Given the description of an element on the screen output the (x, y) to click on. 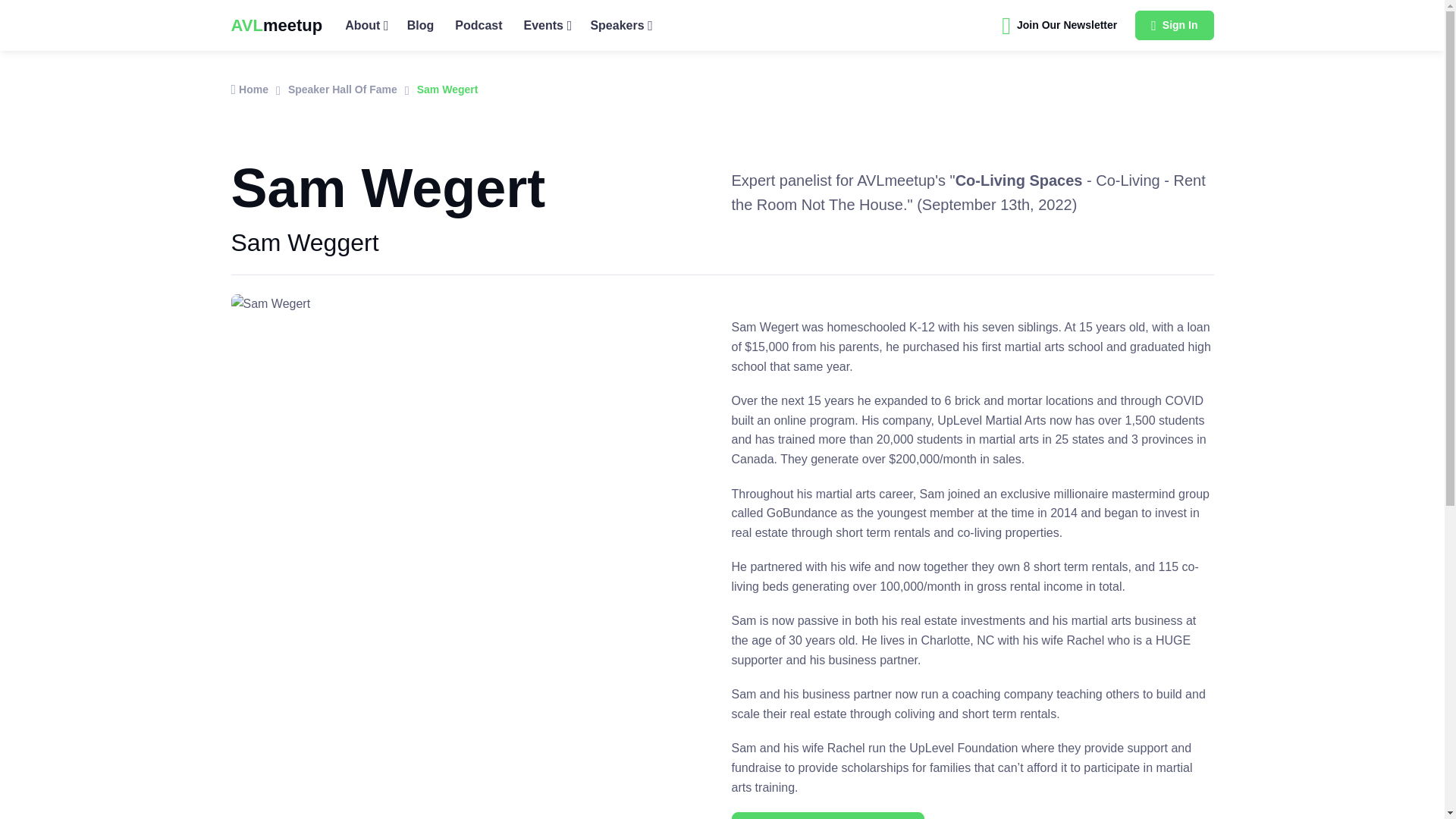
Speakers (620, 25)
Blog (420, 25)
Listen to the recording (827, 815)
Join Our Newsletter (1058, 25)
Home (248, 89)
Events (546, 25)
Podcast (478, 25)
About (365, 25)
Sign In (1173, 25)
